Given the description of an element on the screen output the (x, y) to click on. 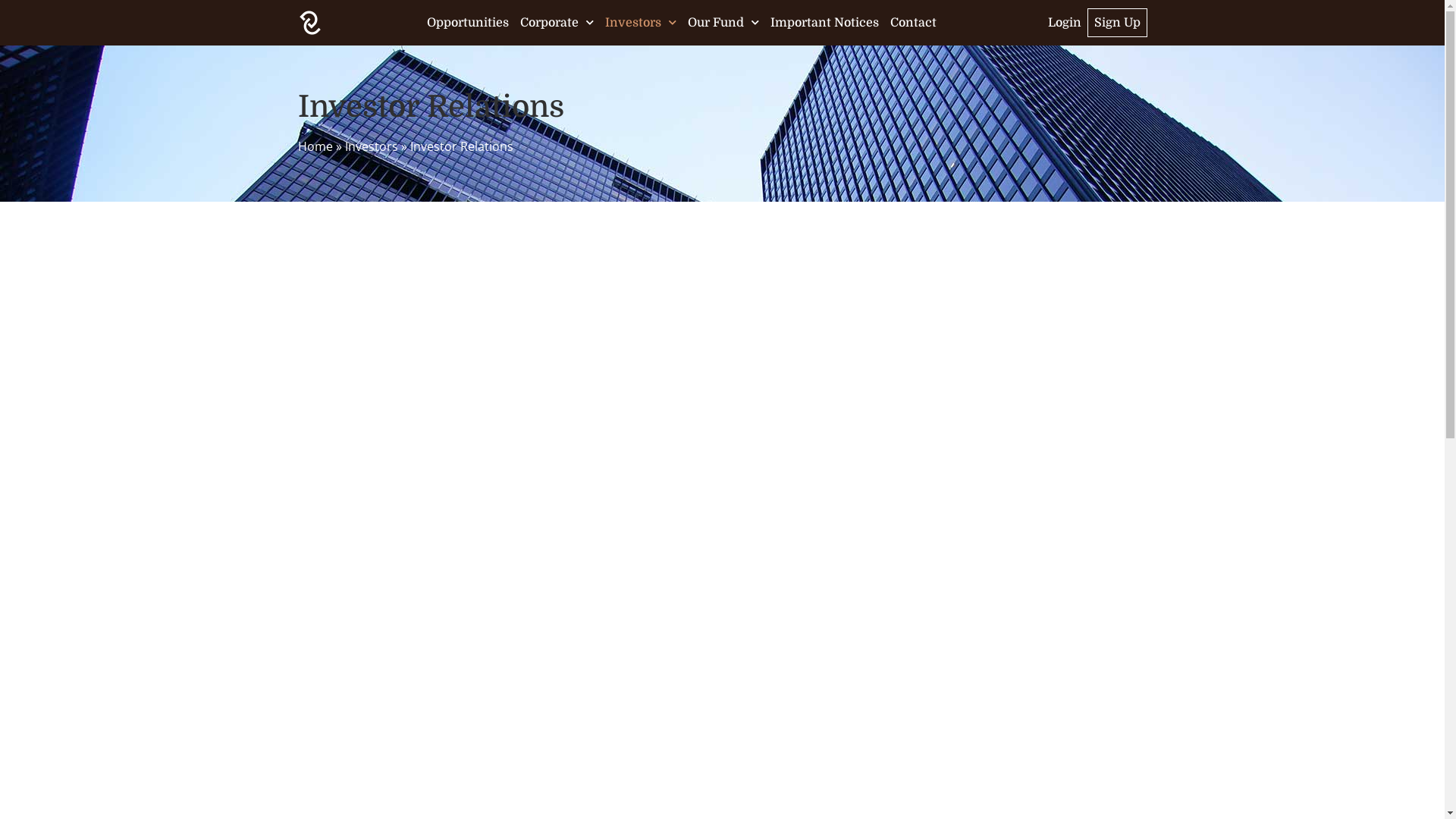
Contact Element type: text (913, 22)
Home Element type: text (314, 146)
Login Element type: text (1064, 22)
Sign Up Element type: text (1117, 22)
Investors Element type: text (640, 22)
Investors Element type: text (370, 146)
Opportunities Element type: text (467, 22)
Our Fund Element type: text (723, 22)
Corporate Element type: text (556, 22)
Important Notices Element type: text (824, 22)
